Given the description of an element on the screen output the (x, y) to click on. 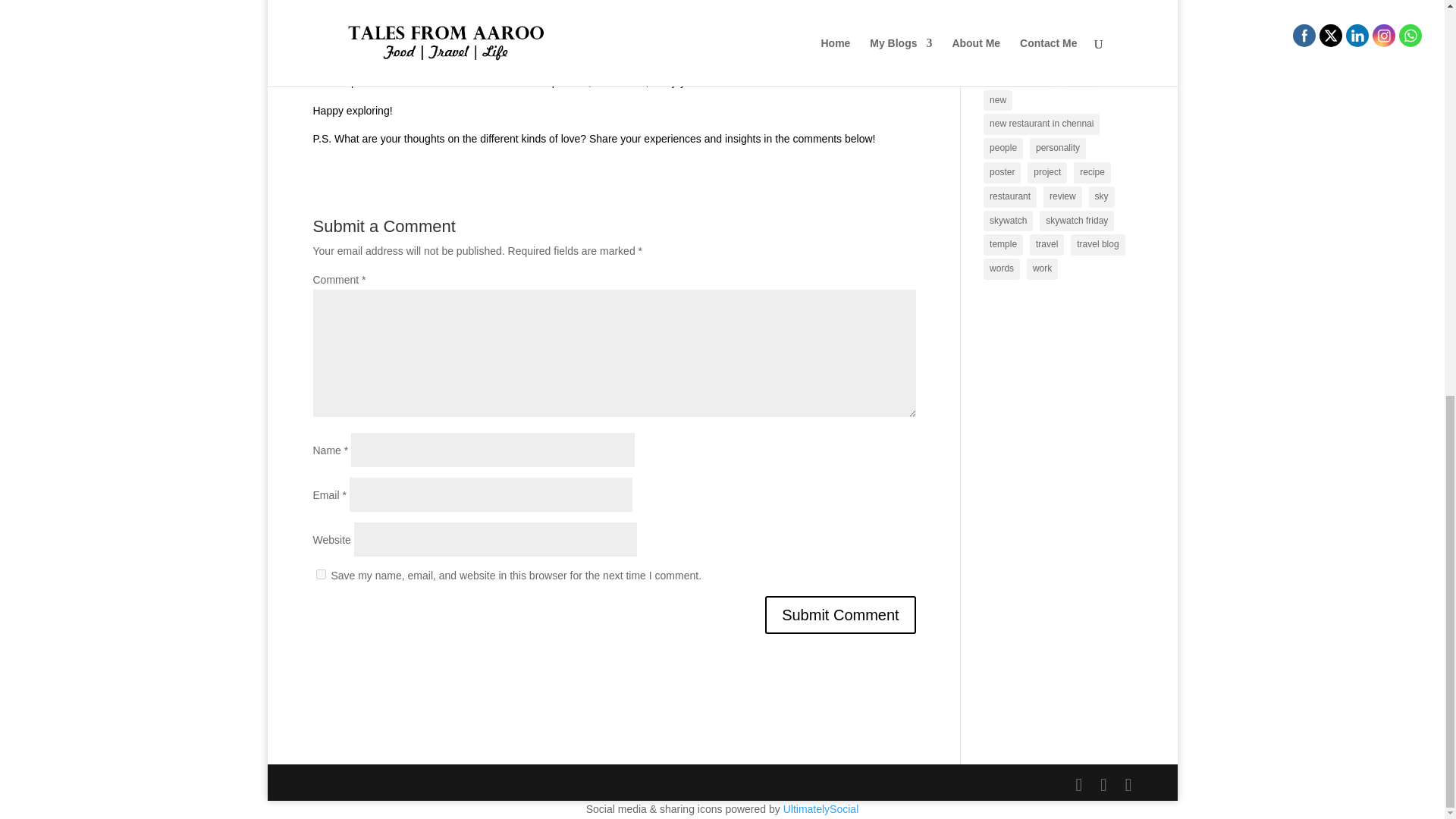
Instagram (1383, 35)
LinkedIn (1357, 35)
Submit Comment (840, 614)
yes (319, 574)
Twitter (1331, 35)
Facebook (1304, 35)
fun (996, 7)
Submit Comment (840, 614)
